Given the description of an element on the screen output the (x, y) to click on. 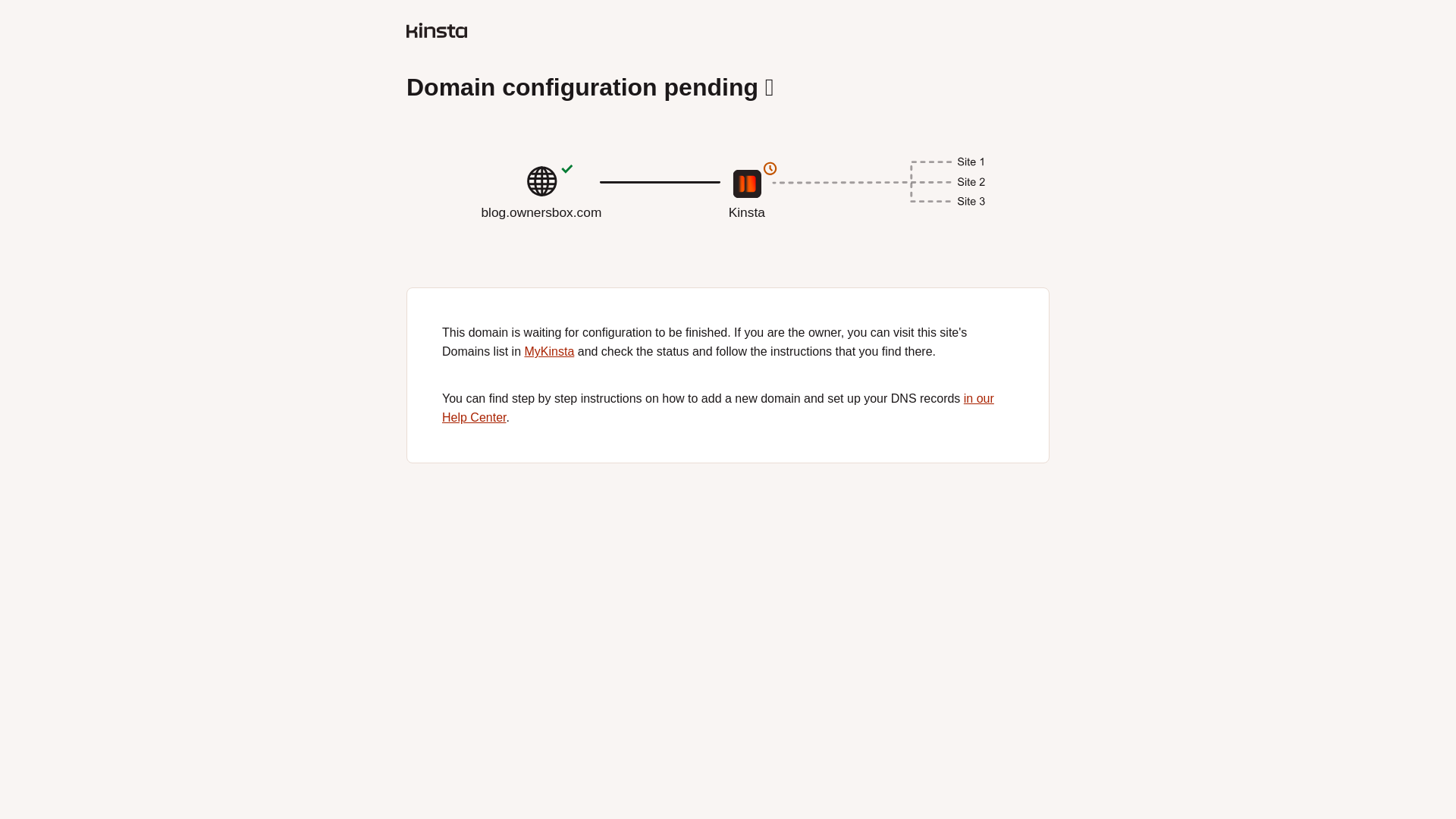
MyKinsta (548, 350)
in our Help Center (727, 218)
